Given the description of an element on the screen output the (x, y) to click on. 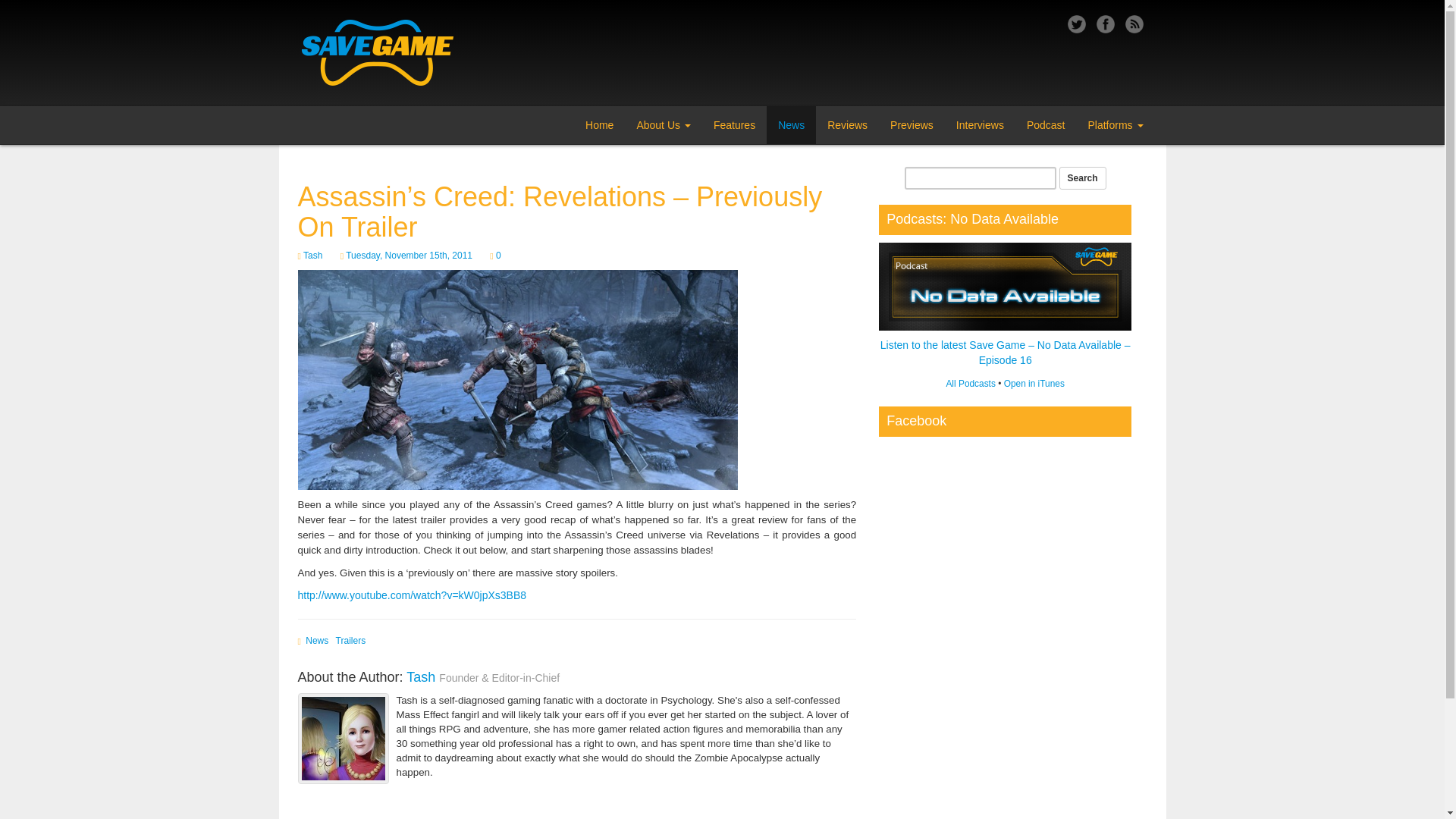
Trailers (351, 640)
Platforms (1114, 125)
Features (734, 125)
All Podcasts (969, 383)
Save Game (398, 52)
Search (1082, 178)
Tash (311, 255)
News (317, 640)
Tuesday, November 15th, 2011 (408, 255)
Reviews (847, 125)
